Given the description of an element on the screen output the (x, y) to click on. 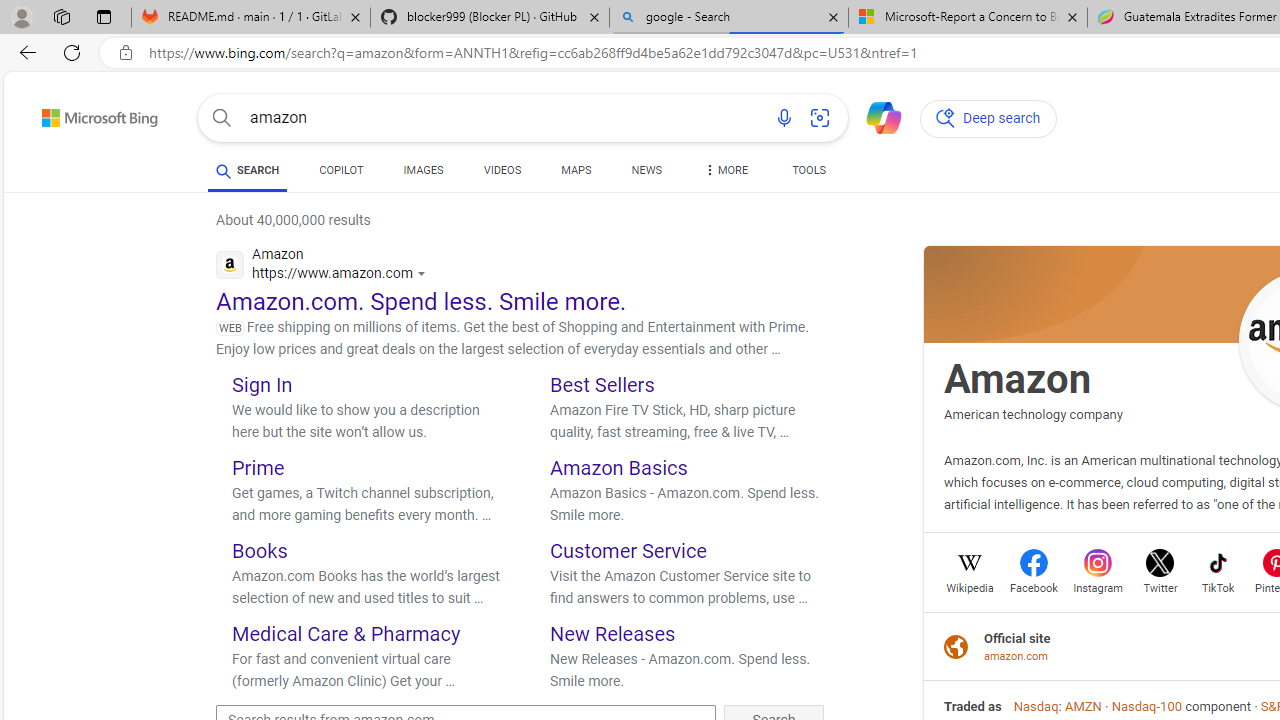
Traded as (973, 706)
Class: sp-ofsite (955, 646)
MORE (724, 173)
Search using an image (820, 117)
Nasdaq (1035, 706)
Dropdown Menu (724, 170)
